Given the description of an element on the screen output the (x, y) to click on. 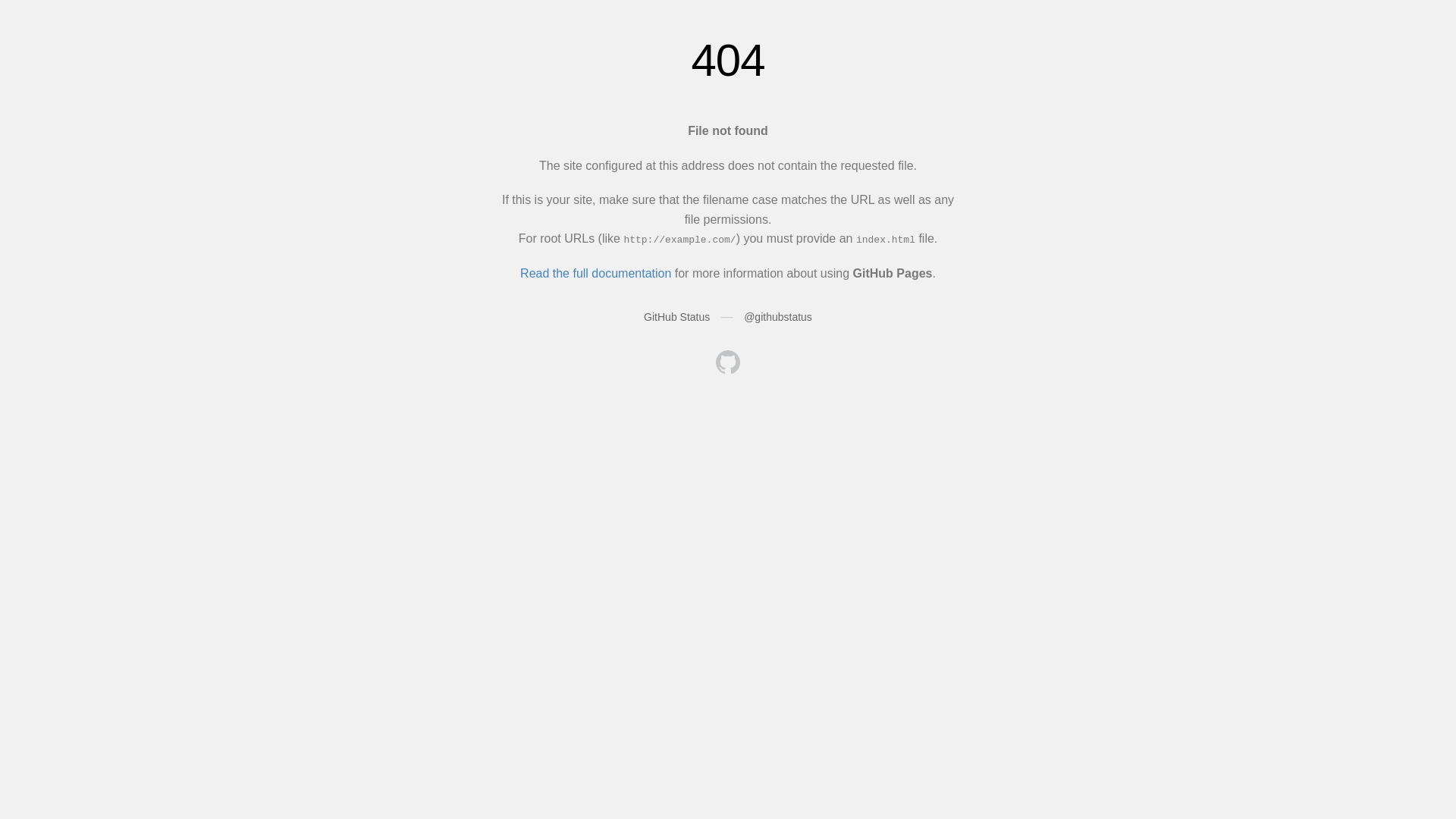
Read the full documentation Element type: text (595, 272)
GitHub Status Element type: text (676, 316)
@githubstatus Element type: text (777, 316)
